Given the description of an element on the screen output the (x, y) to click on. 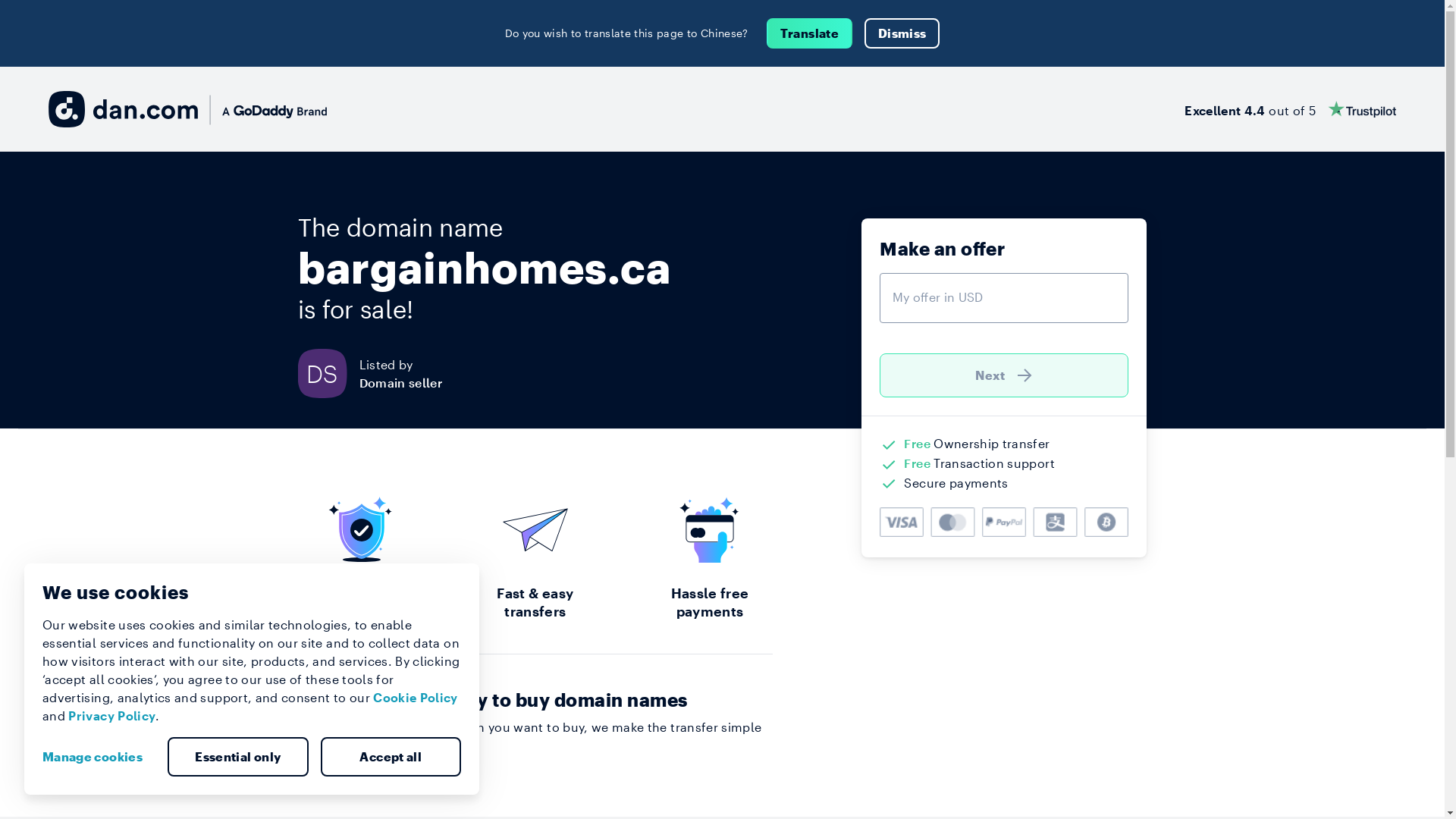
Essential only Element type: text (237, 756)
Accept all Element type: text (390, 756)
Excellent 4.4 out of 5 Element type: text (1290, 109)
Dismiss Element type: text (901, 33)
Next
) Element type: text (1003, 375)
Cookie Policy Element type: text (415, 697)
Manage cookies Element type: text (98, 756)
DS Element type: text (327, 373)
Translate Element type: text (809, 33)
Privacy Policy Element type: text (111, 715)
